Given the description of an element on the screen output the (x, y) to click on. 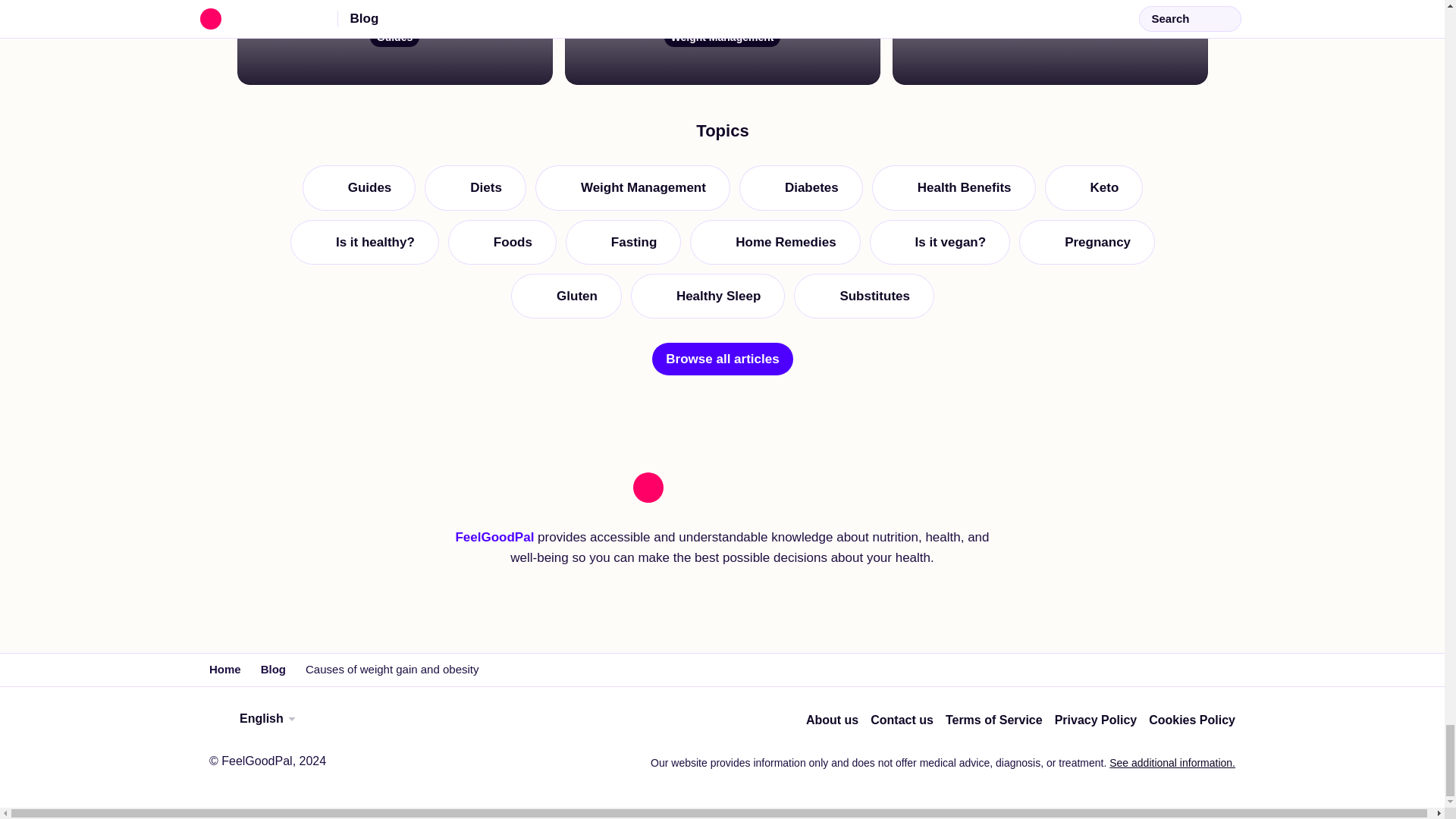
Fasting (621, 559)
Keto (1092, 505)
Guides (357, 505)
13 reasons why sugary soda is bad for your health (393, 42)
Home Remedies (1049, 42)
Is it healthy? (775, 559)
Diabetes (363, 559)
Health Benefits (799, 505)
Diets (952, 505)
Foods (475, 505)
Weight Management (501, 559)
